Given the description of an element on the screen output the (x, y) to click on. 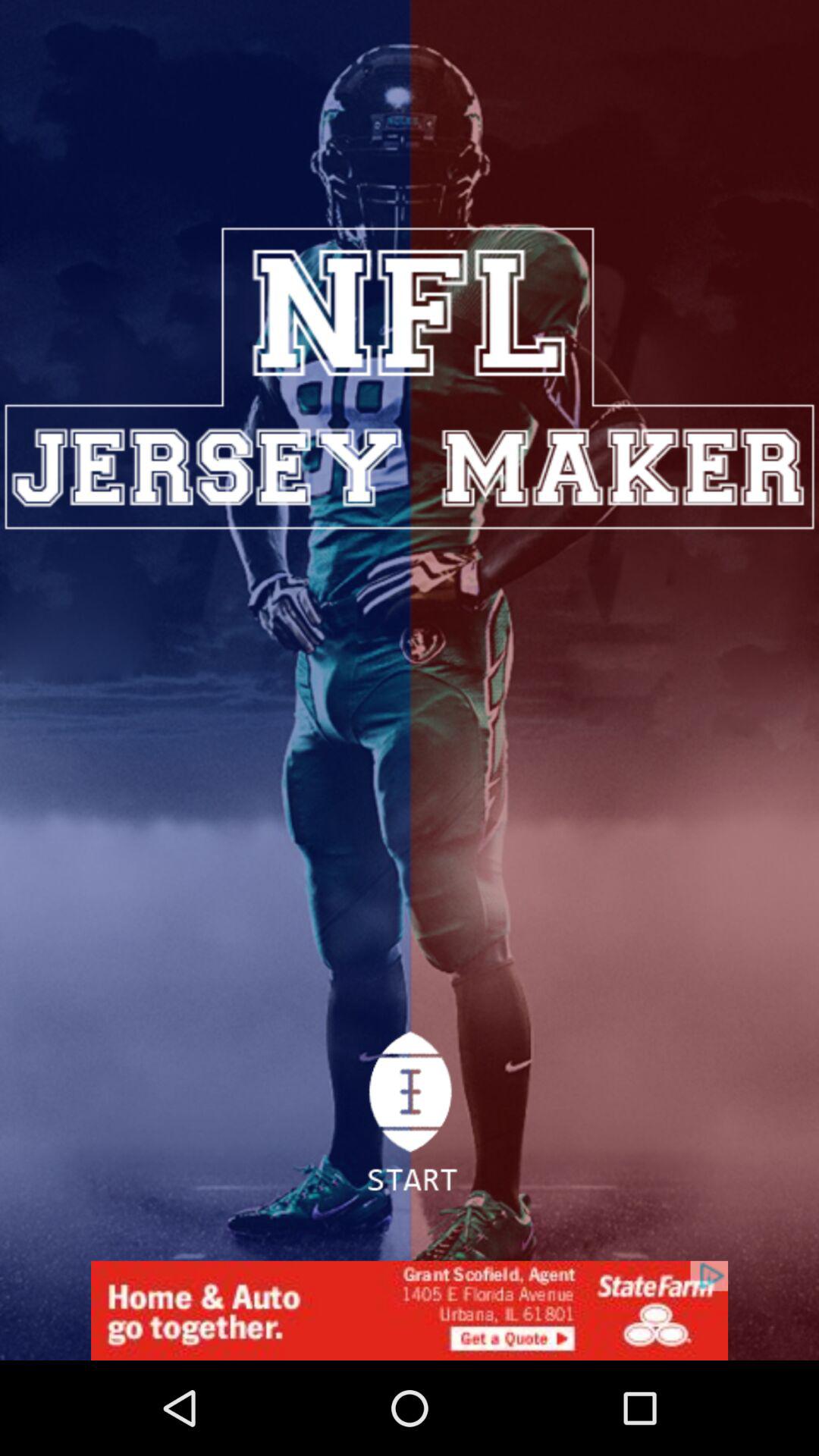
choose the selection (408, 1120)
